Given the description of an element on the screen output the (x, y) to click on. 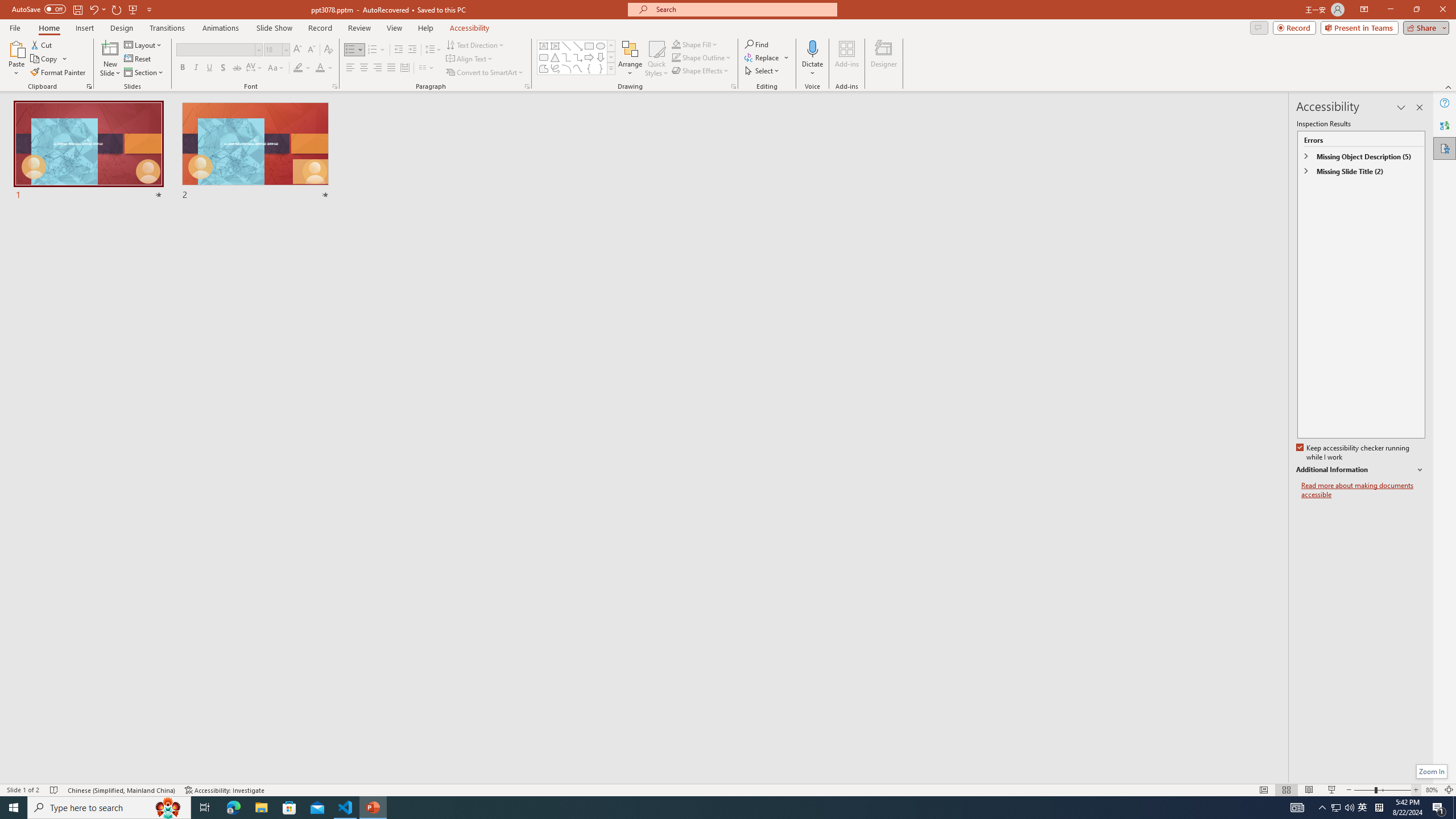
Shape Fill Dark Green, Accent 2 (675, 44)
